Given the description of an element on the screen output the (x, y) to click on. 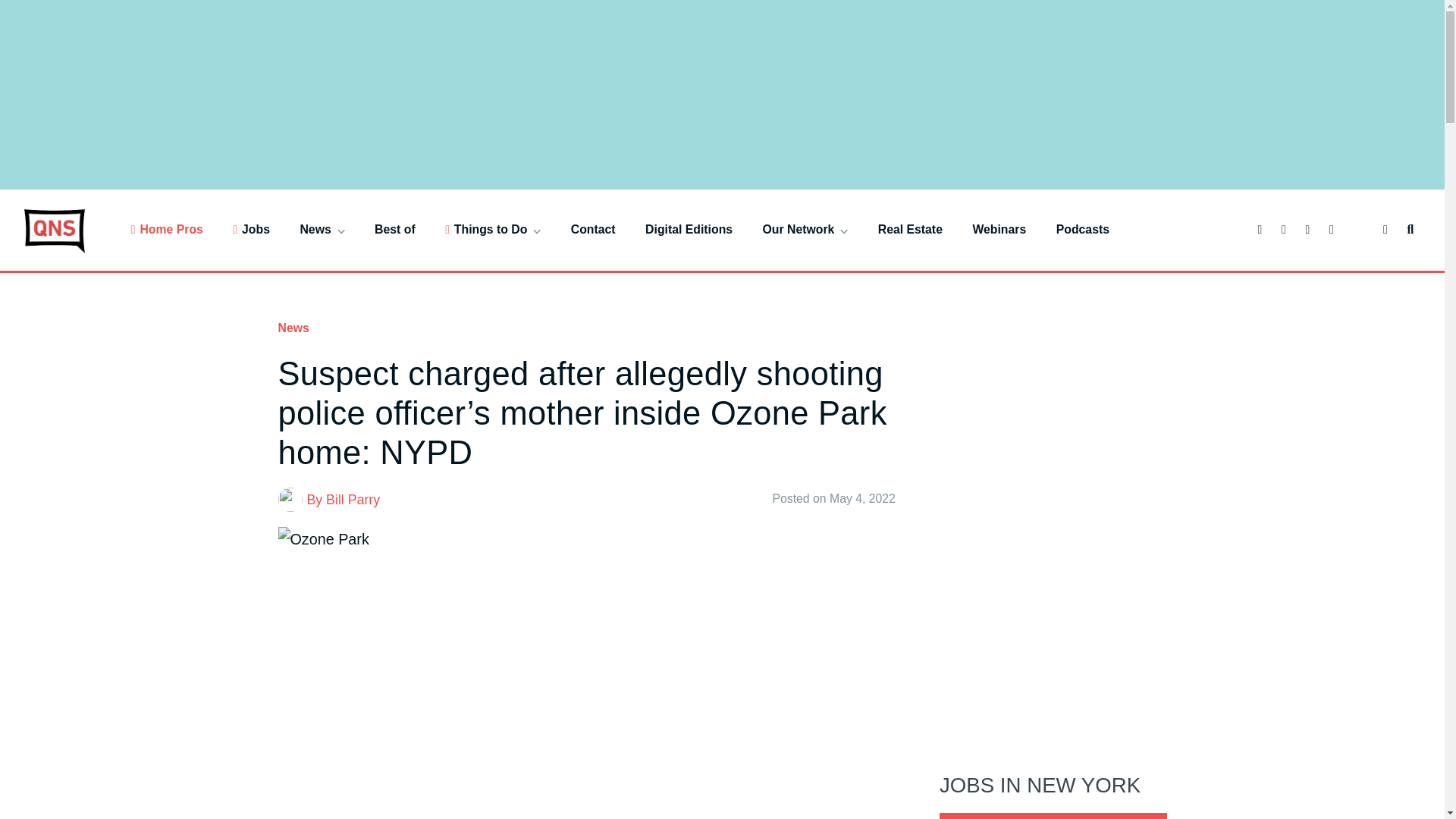
Posts by Bill Parry (353, 499)
Home Pros (167, 228)
Real Estate (909, 228)
Jobs (250, 228)
Contact (592, 228)
Our Network (805, 228)
News (321, 228)
Podcasts (1083, 228)
Webinars (999, 228)
Best of (394, 228)
